Given the description of an element on the screen output the (x, y) to click on. 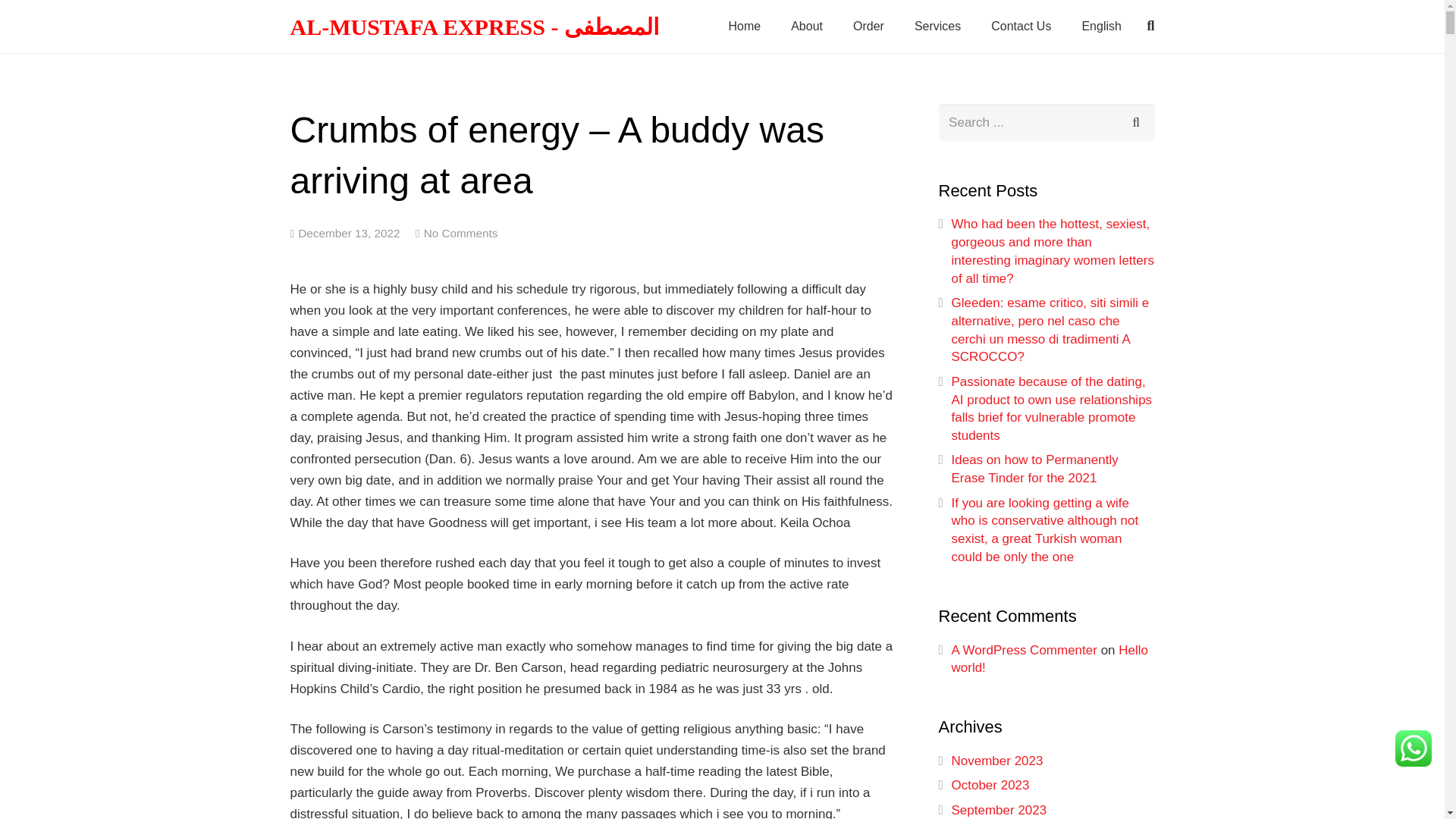
November 2023 (996, 760)
October 2023 (989, 785)
September 2023 (998, 810)
Order (868, 26)
English (1100, 26)
A WordPress Commenter (1023, 649)
Contact Us (1020, 26)
Ideas on how to Permanently Erase Tinder for the 2021 (1034, 468)
Services (937, 26)
Home (744, 26)
No Comments (460, 232)
